Given the description of an element on the screen output the (x, y) to click on. 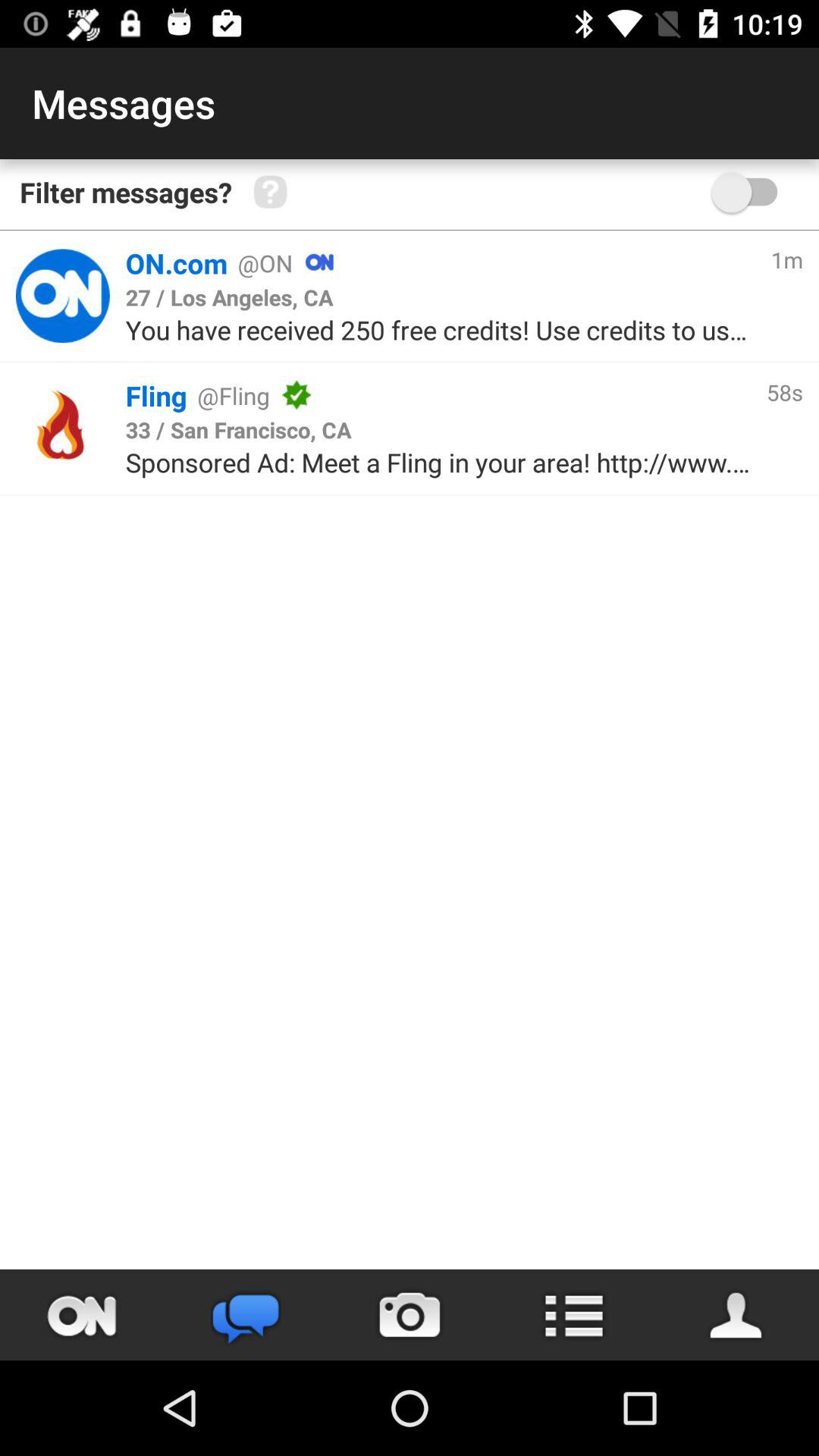
turn off 58s (784, 392)
